Given the description of an element on the screen output the (x, y) to click on. 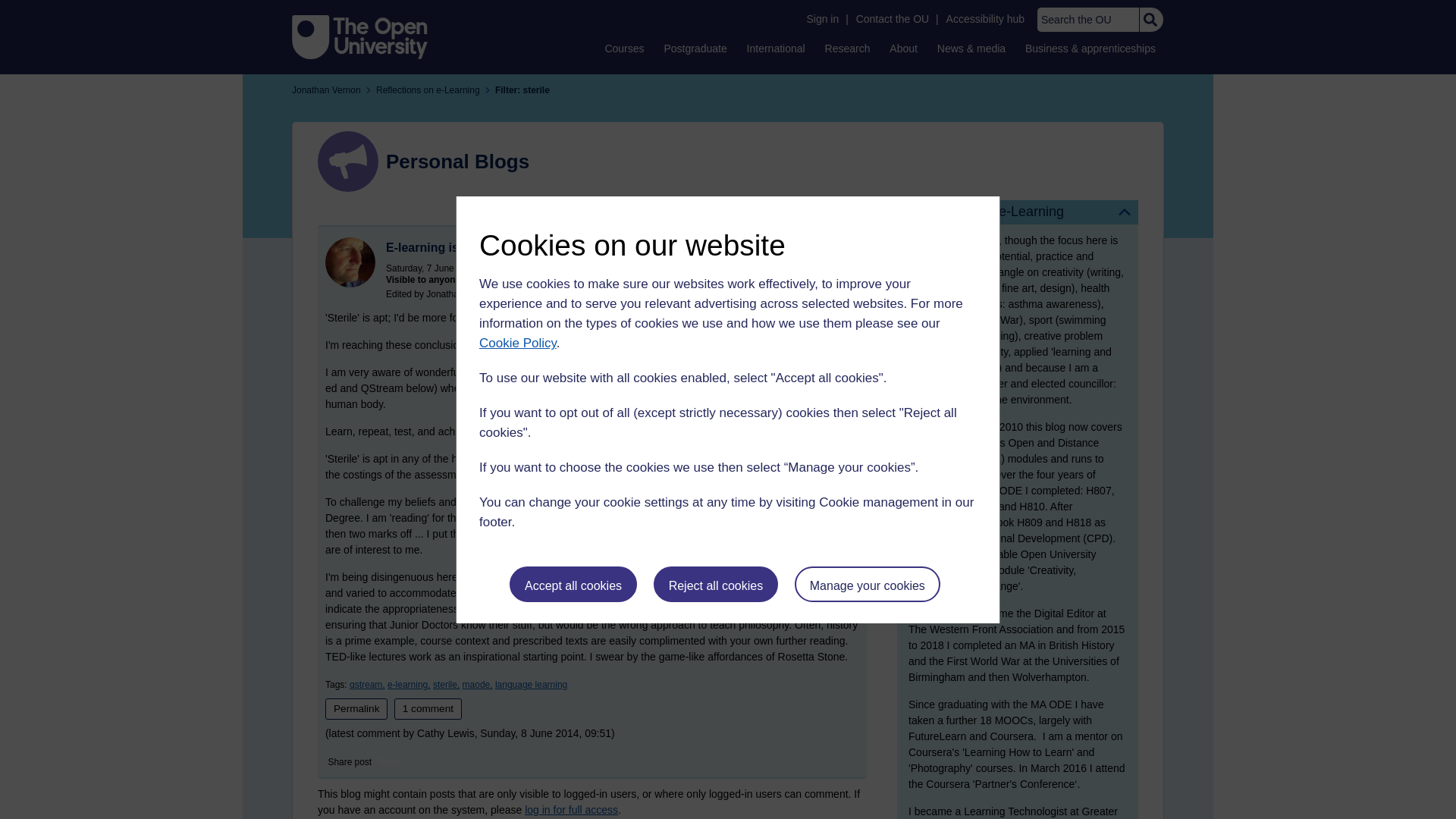
Search (1149, 19)
Courses (623, 48)
Research (847, 48)
Search (1149, 19)
Sign in (822, 19)
About (903, 48)
The Open University (360, 36)
Cookie Policy (517, 342)
Postgraduate (695, 48)
Reflections on e-Learning (1017, 211)
Contact the OU (892, 19)
International (775, 48)
Manage your cookies (867, 583)
Accessibility hub (985, 19)
